Given the description of an element on the screen output the (x, y) to click on. 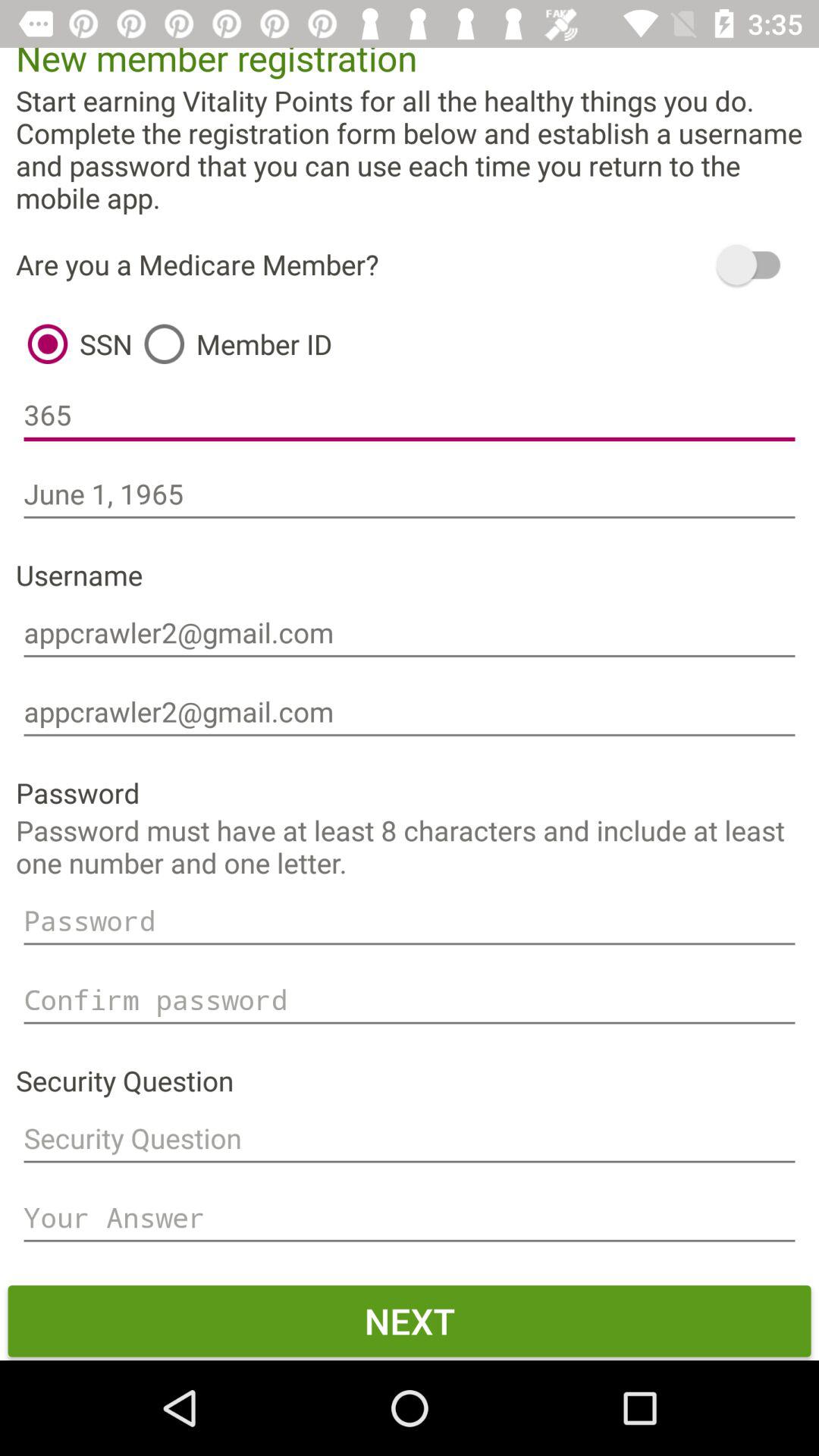
type security question (409, 1138)
